Given the description of an element on the screen output the (x, y) to click on. 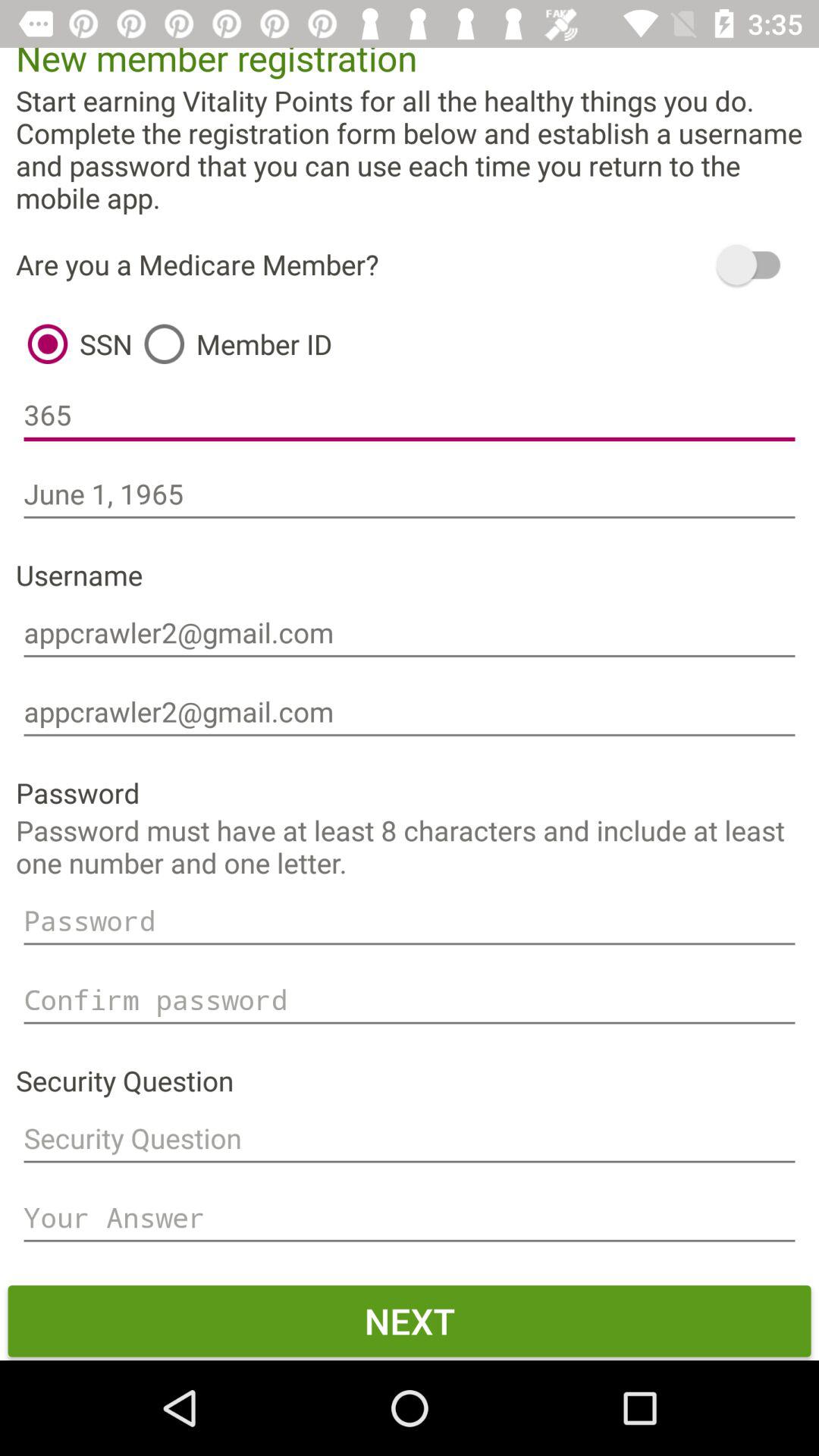
type security question (409, 1138)
